Given the description of an element on the screen output the (x, y) to click on. 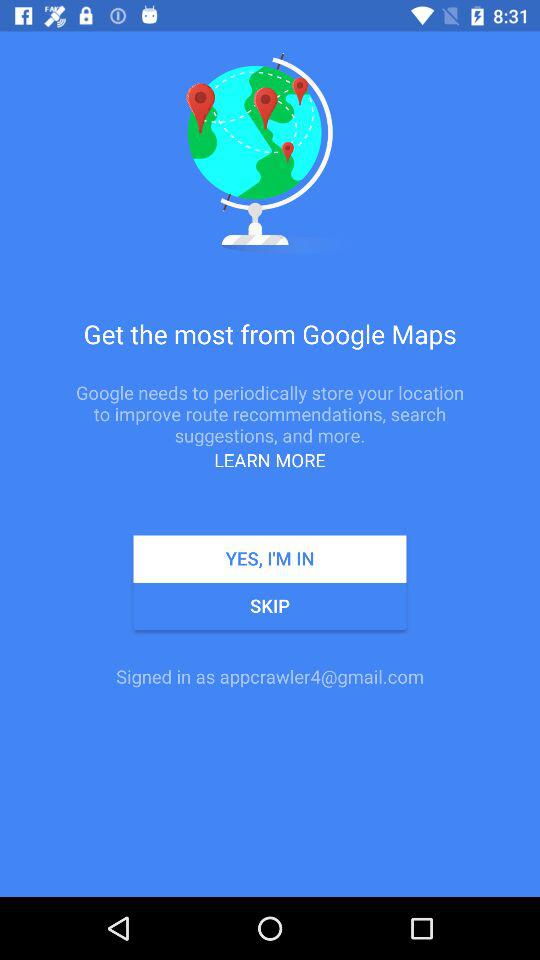
select the item below the yes i m (269, 606)
